Given the description of an element on the screen output the (x, y) to click on. 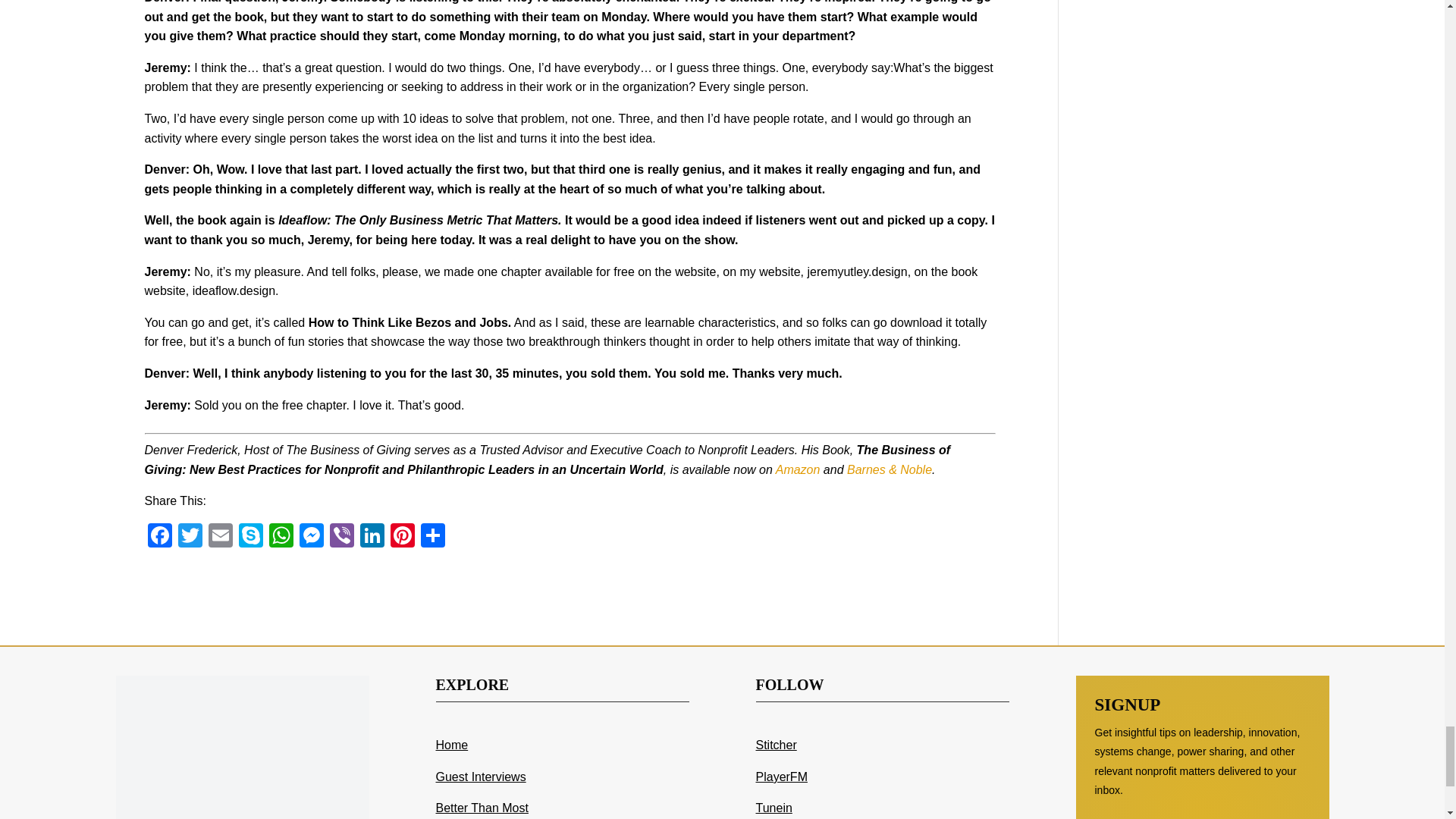
Facebook (159, 537)
Facebook (159, 537)
Email (219, 537)
Twitter (189, 537)
Amazon (798, 469)
WhatsApp (279, 537)
LinkedIn (371, 537)
Email (219, 537)
Skype (249, 537)
Viber (341, 537)
